Given the description of an element on the screen output the (x, y) to click on. 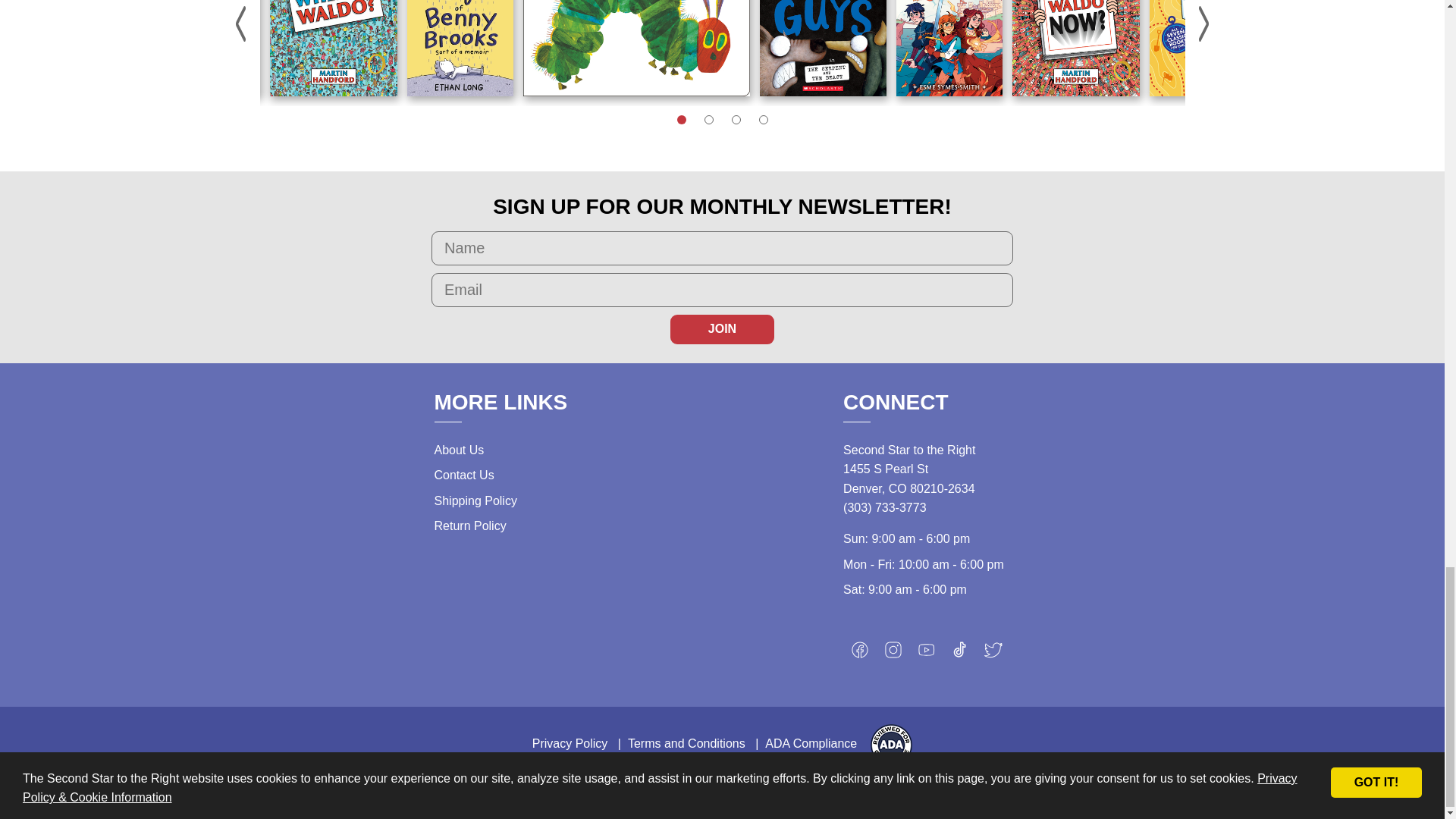
Connect with Instagram (892, 653)
Connect with Tik Tok (959, 653)
Join (721, 328)
Connect with Twitter (993, 653)
Connect with Youtube Channel (926, 653)
Connect with Facebook (859, 653)
